Given the description of an element on the screen output the (x, y) to click on. 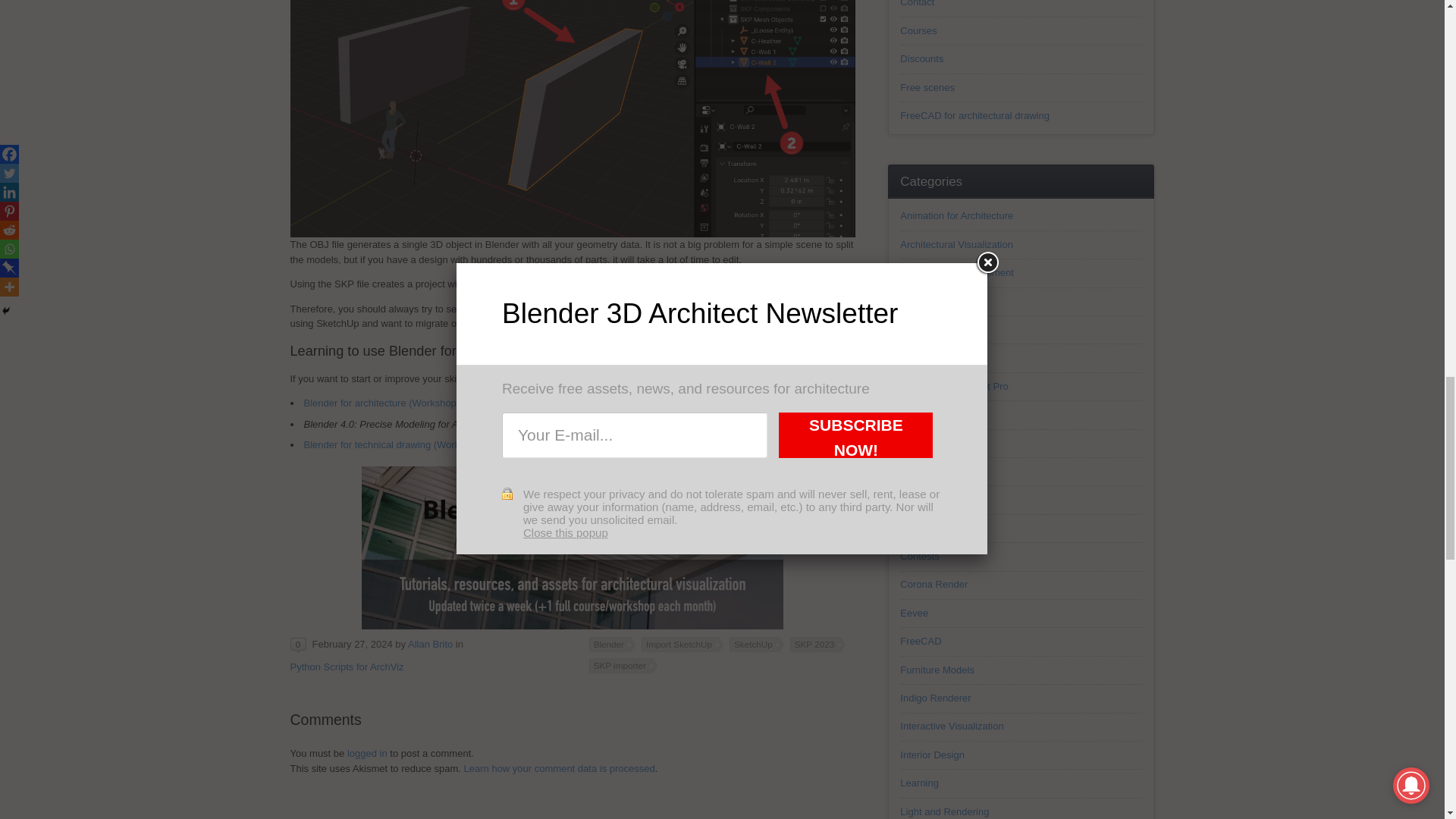
Posts by Allan Brito (429, 644)
eBook (588, 423)
Paperback (534, 423)
